Given the description of an element on the screen output the (x, y) to click on. 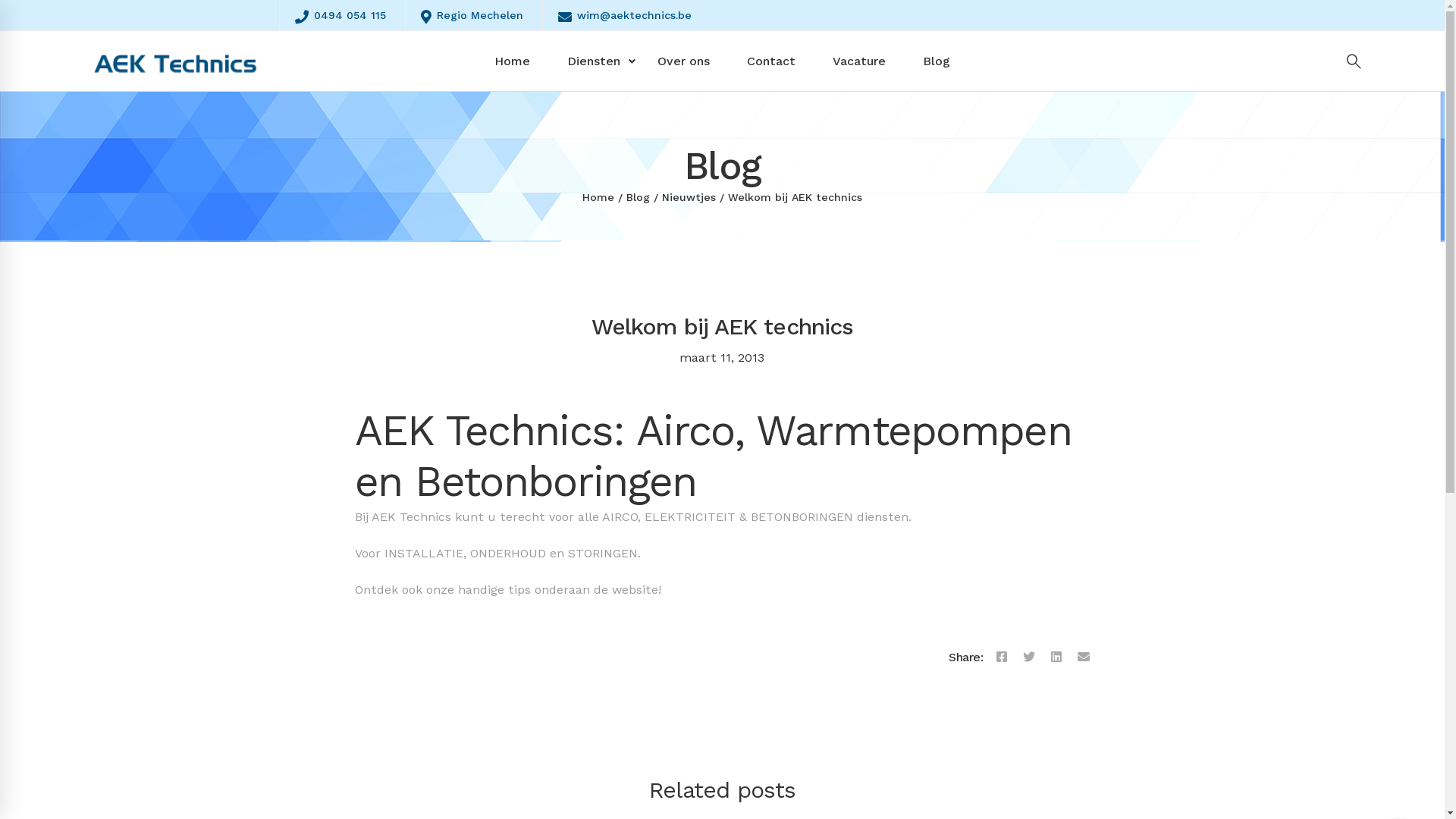
Home Element type: text (511, 61)
Nieuwtjes Element type: text (688, 197)
Blog Element type: text (637, 197)
+Diensten Element type: text (593, 61)
Vacature Element type: text (858, 61)
Blog Element type: text (936, 61)
wim@aektechnics.be Element type: text (341, 809)
Home Element type: text (598, 197)
Over ons Element type: text (683, 61)
Contact Element type: text (771, 61)
